Given the description of an element on the screen output the (x, y) to click on. 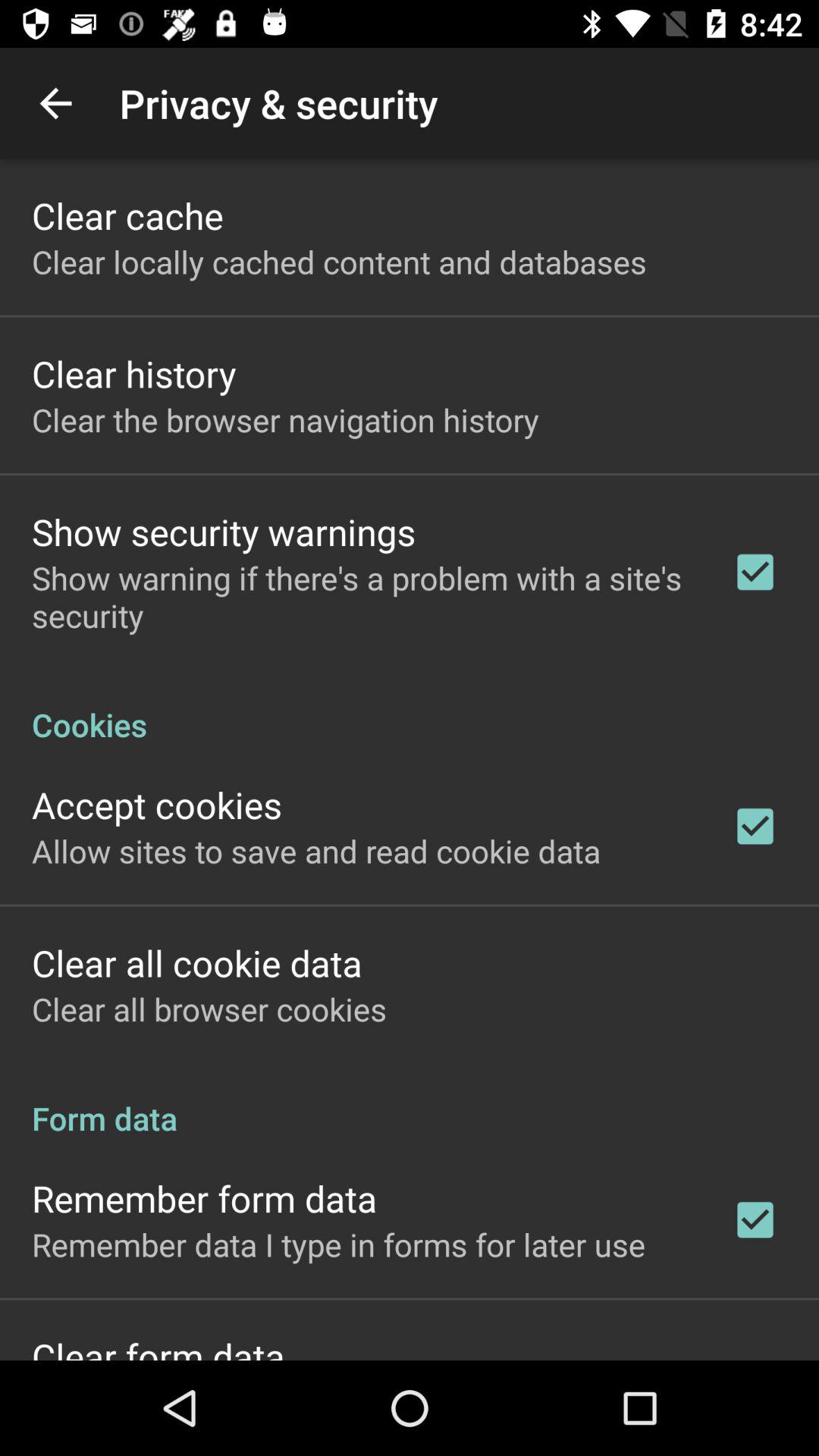
click item above clear locally cached app (127, 215)
